Given the description of an element on the screen output the (x, y) to click on. 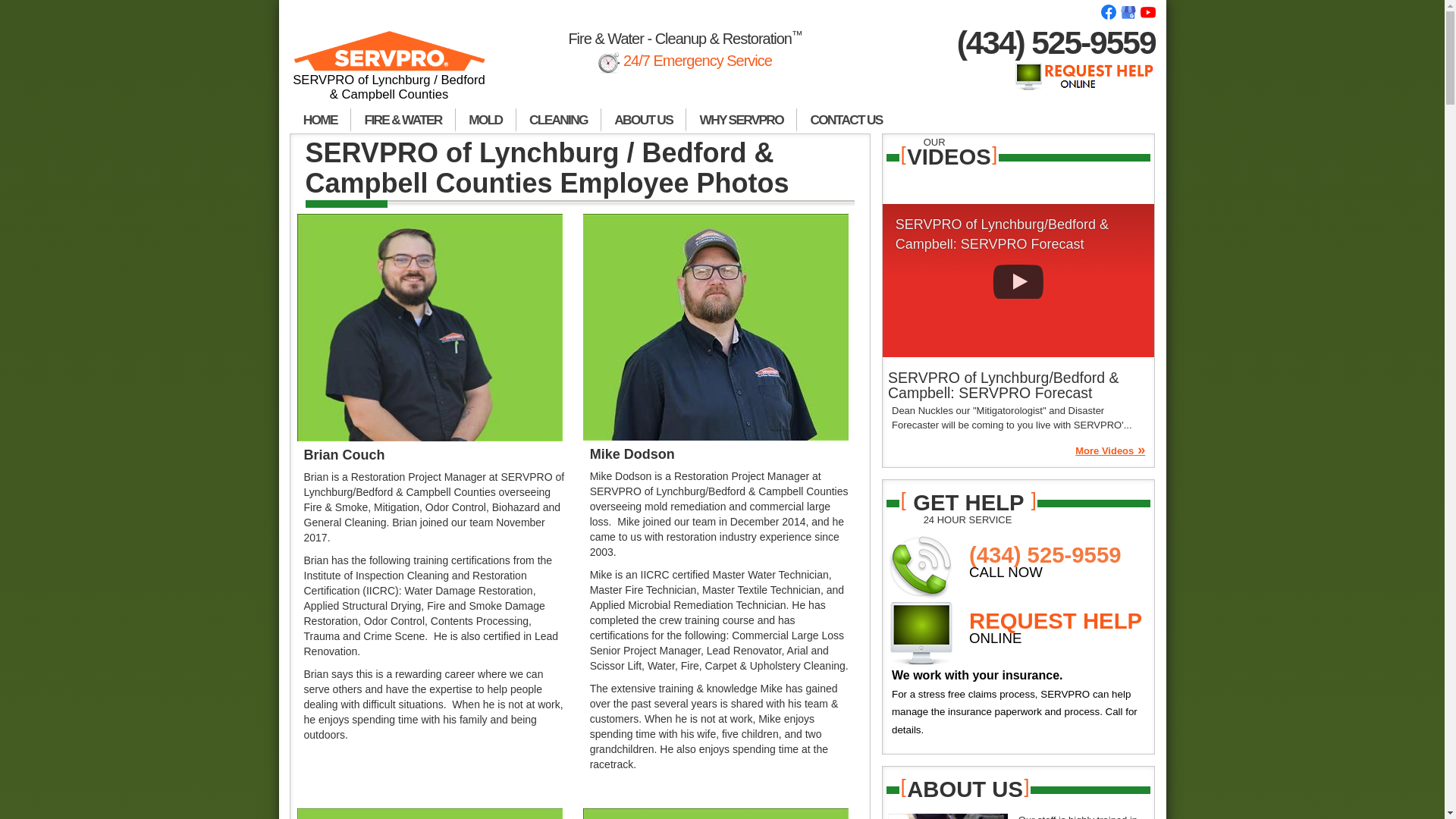
HOME (319, 120)
ABOUT US (643, 120)
MOLD (485, 120)
CLEANING (558, 120)
